Given the description of an element on the screen output the (x, y) to click on. 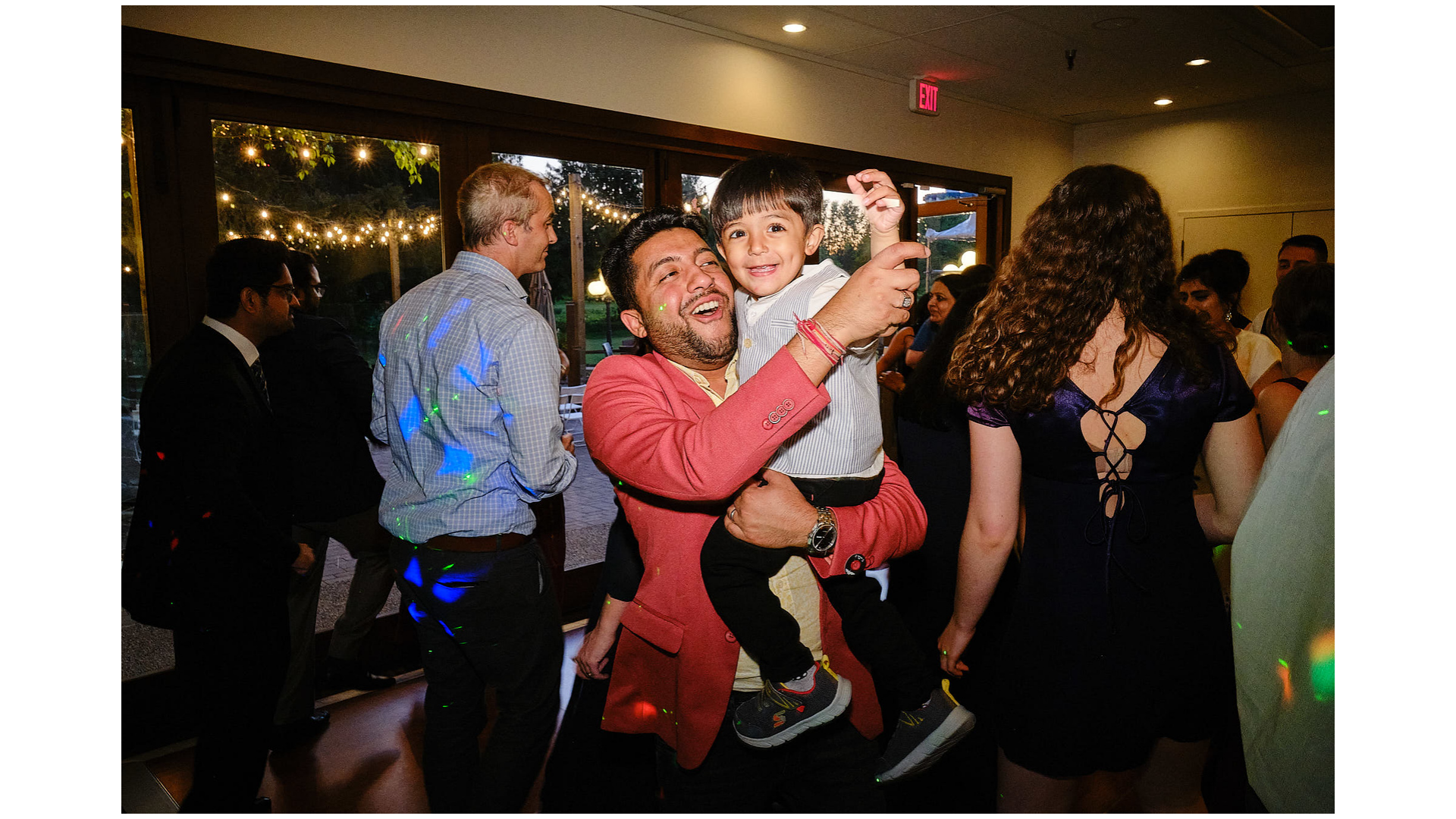
FEATURED WEDDINGS Element type: text (1054, 190)
SmugMug Element type: hover (59, 22)
Privacy Element type: text (338, 382)
ABOUT ME Element type: text (1316, 190)
PRICING Element type: text (1245, 190)
Contact Element type: text (378, 382)
Browse Photos Element type: text (186, 382)
Featured Wedding Photos Element type: text (124, 240)
Share Gallery Element type: hover (1401, 276)
Search "Vani & Erik" for photos Element type: hover (1380, 22)
About SmugMug Element type: text (112, 382)
HOME Element type: text (958, 190)
Photo Sharing Element type: text (38, 382)
LOVE NOTES Element type: text (1169, 190)
Terms Element type: text (300, 382)
Owner Log In Element type: text (430, 382)
CONTACT Element type: text (1391, 190)
Prints & Gifts Element type: text (252, 382)
